Given the description of an element on the screen output the (x, y) to click on. 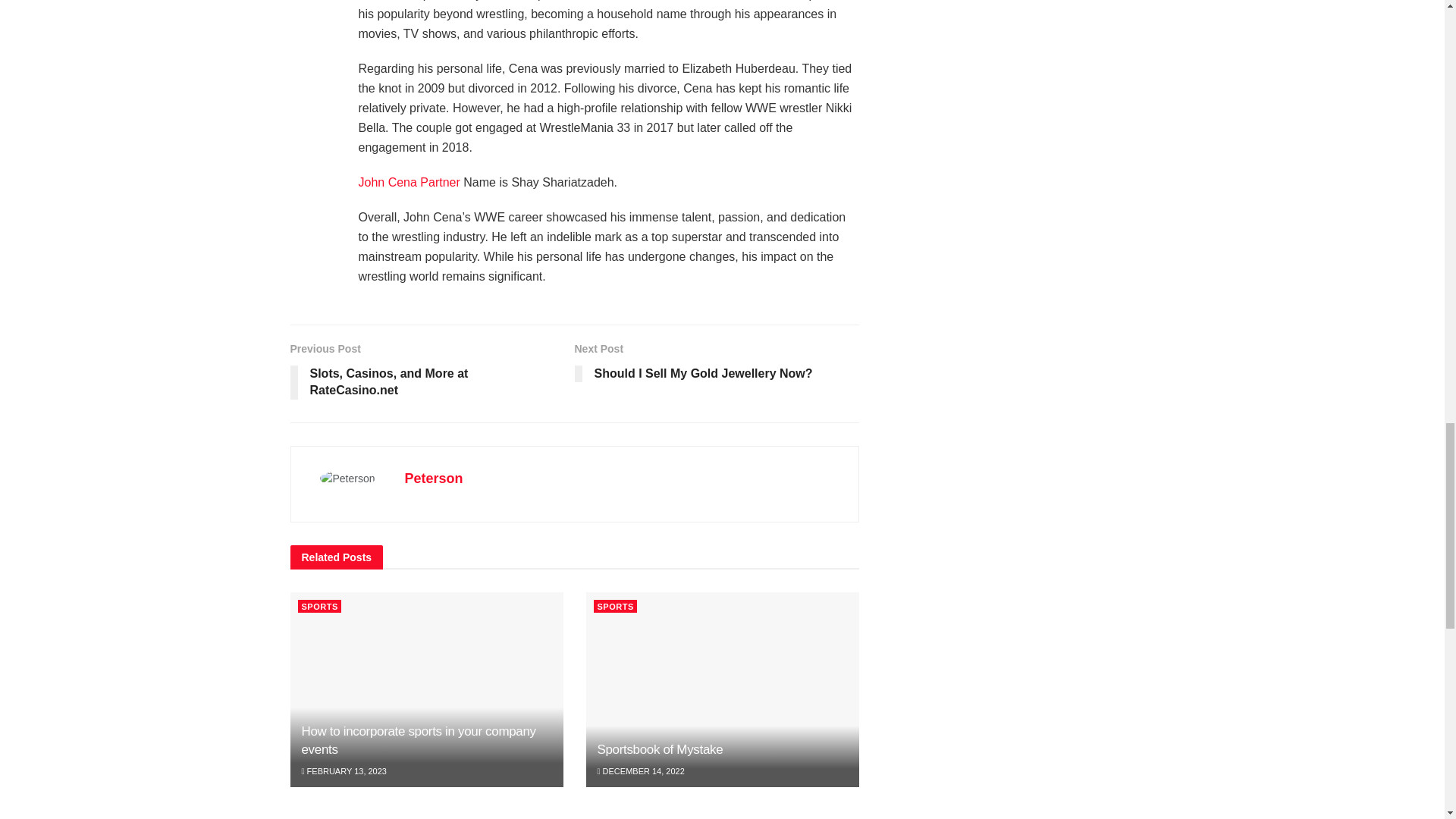
John Cena Partner (409, 182)
